Given the description of an element on the screen output the (x, y) to click on. 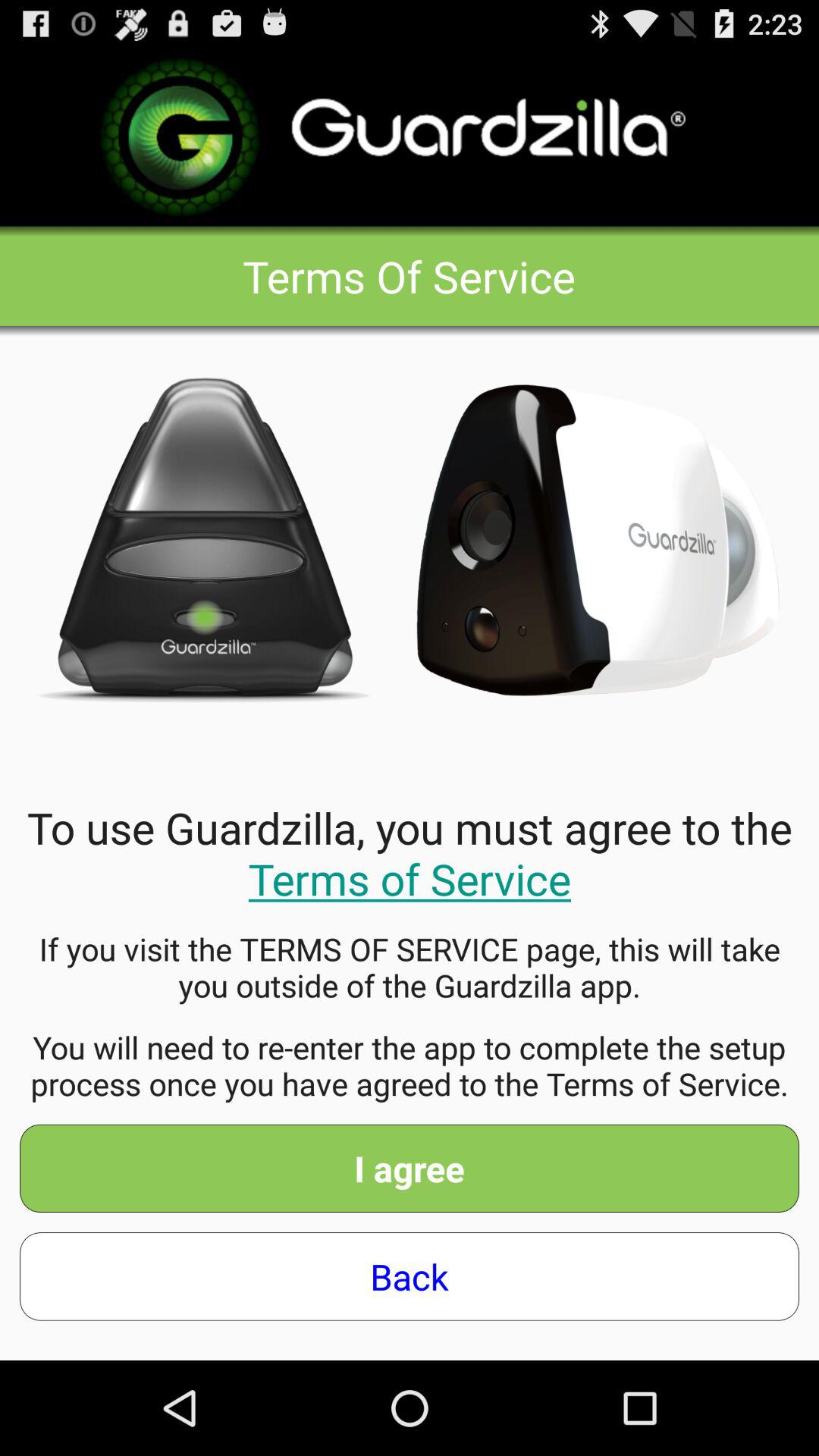
open item below i agree icon (409, 1276)
